Given the description of an element on the screen output the (x, y) to click on. 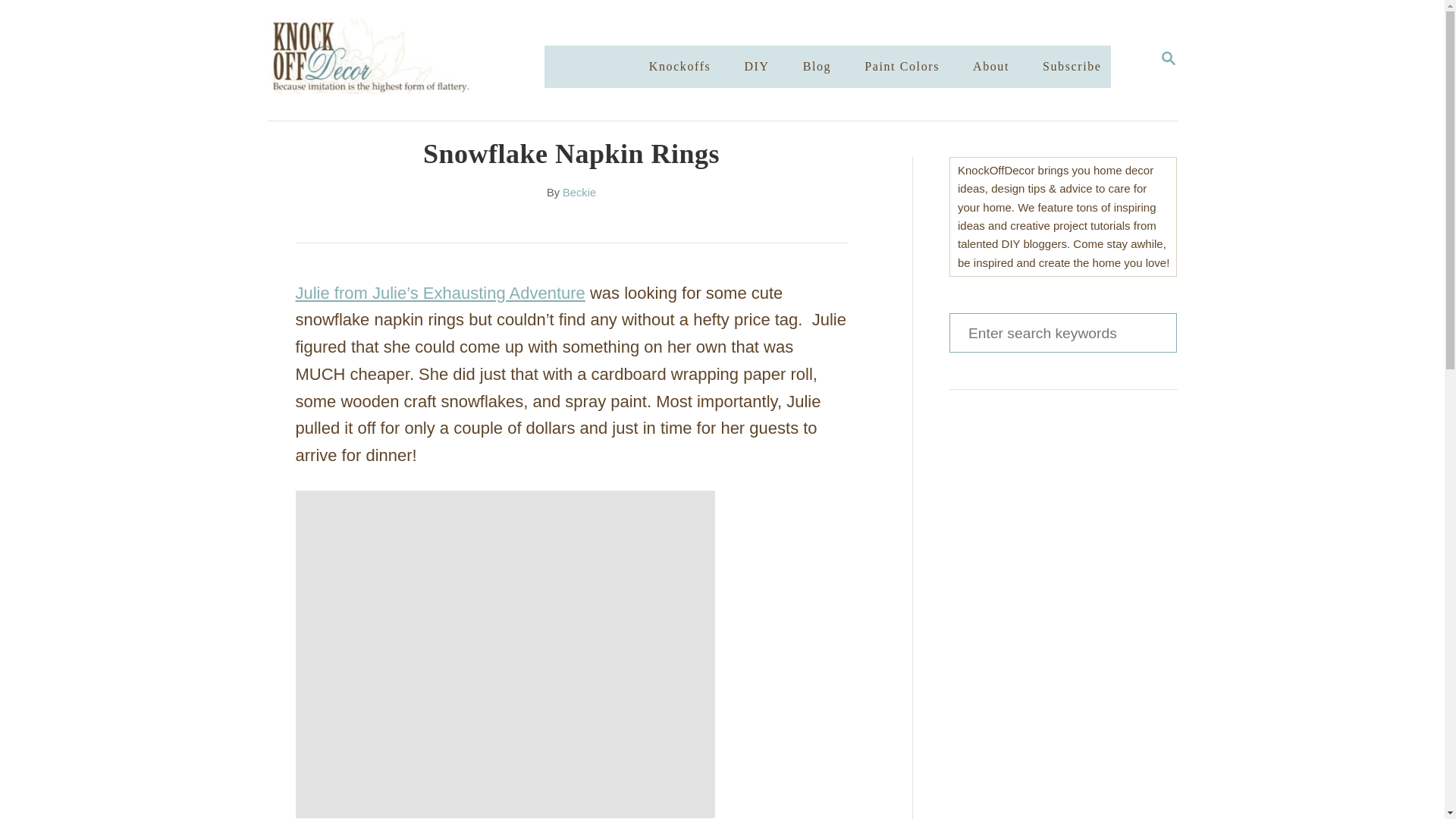
Knockoffs (680, 66)
Beckie (578, 192)
About (990, 66)
Blog (817, 66)
Paint Colors (902, 66)
DIY (756, 66)
MAGNIFYING GLASS (1167, 58)
KnockOffDecor.com (420, 60)
Search for: (1167, 59)
Subscribe (1062, 332)
